Given the description of an element on the screen output the (x, y) to click on. 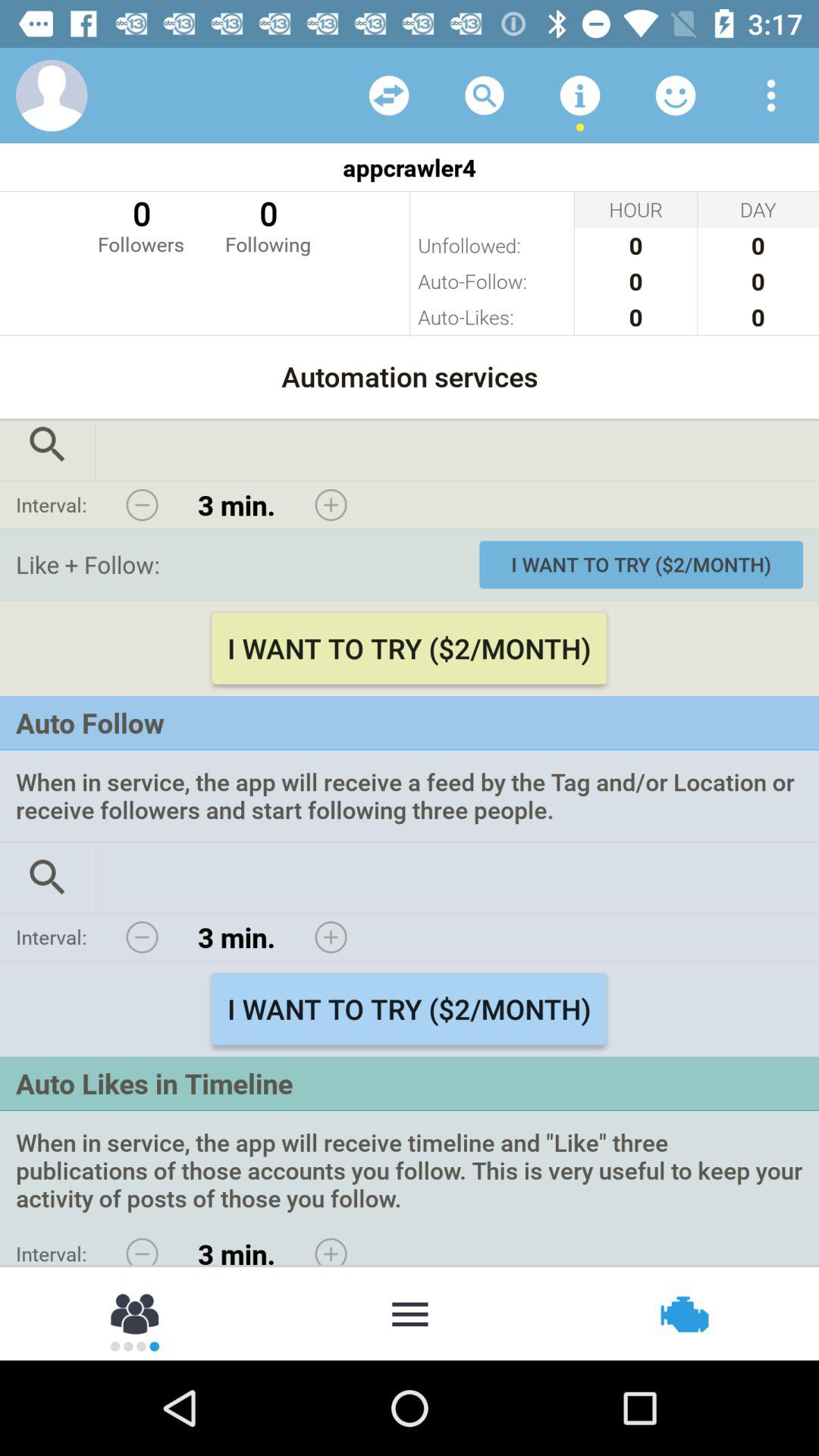
add time (330, 1247)
